Given the description of an element on the screen output the (x, y) to click on. 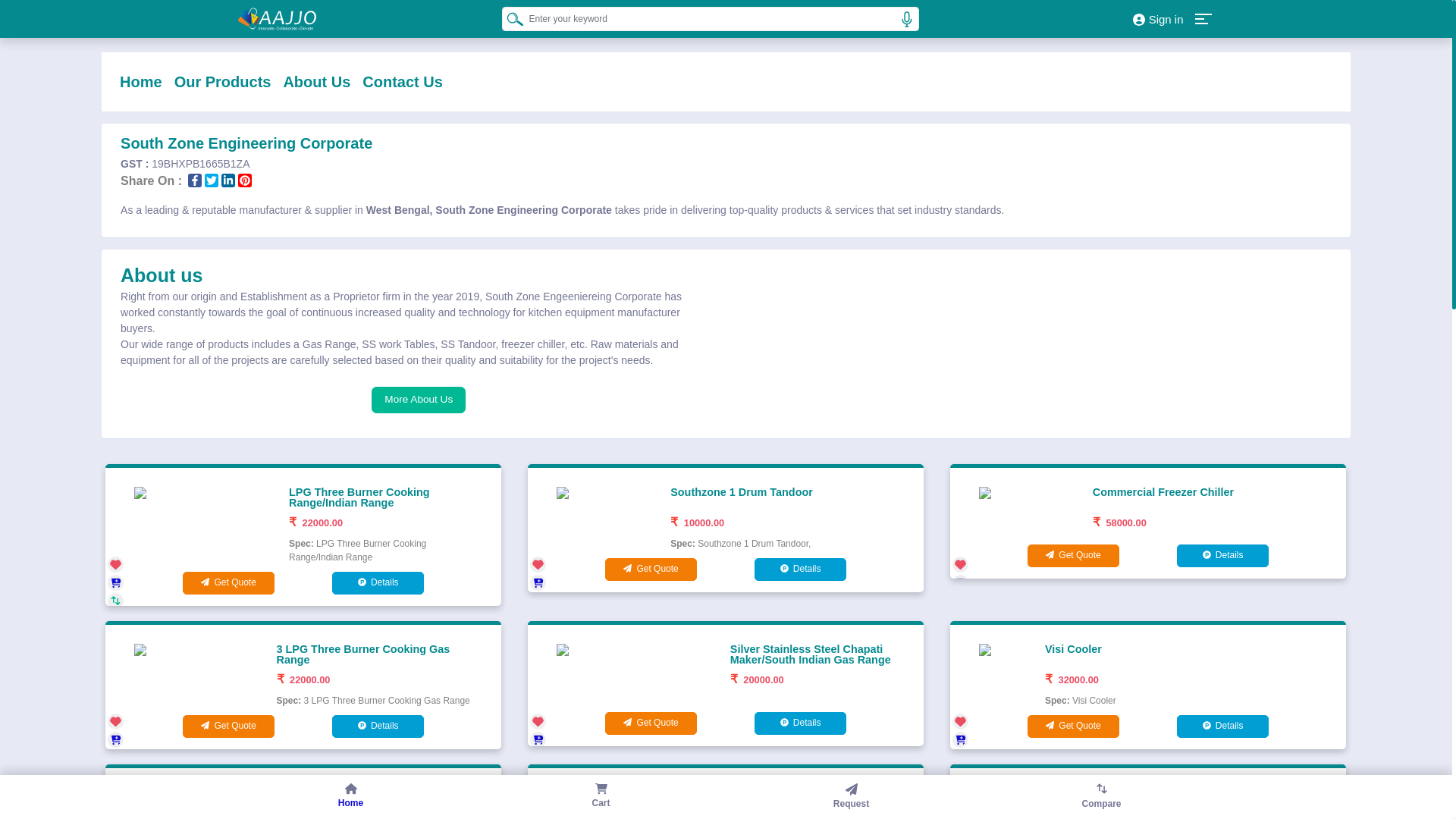
Sign in (1157, 18)
aajjo india (276, 17)
Sign In (1157, 18)
